Given the description of an element on the screen output the (x, y) to click on. 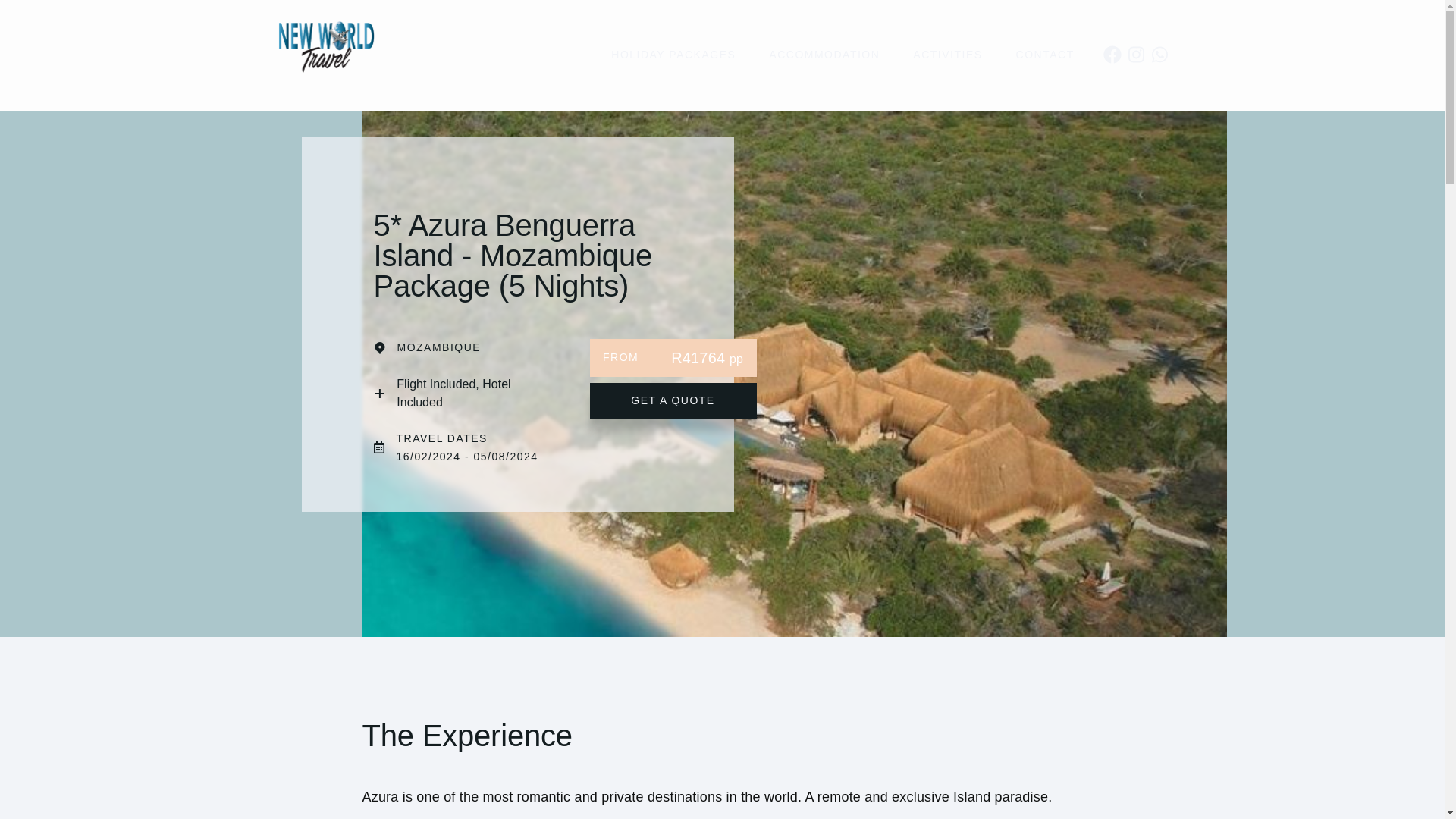
ACCOMMODATION (823, 54)
ACTIVITIES (947, 54)
HOLIDAY PACKAGES (673, 54)
CONTACT (1045, 54)
GET A QUOTE (673, 401)
